Given the description of an element on the screen output the (x, y) to click on. 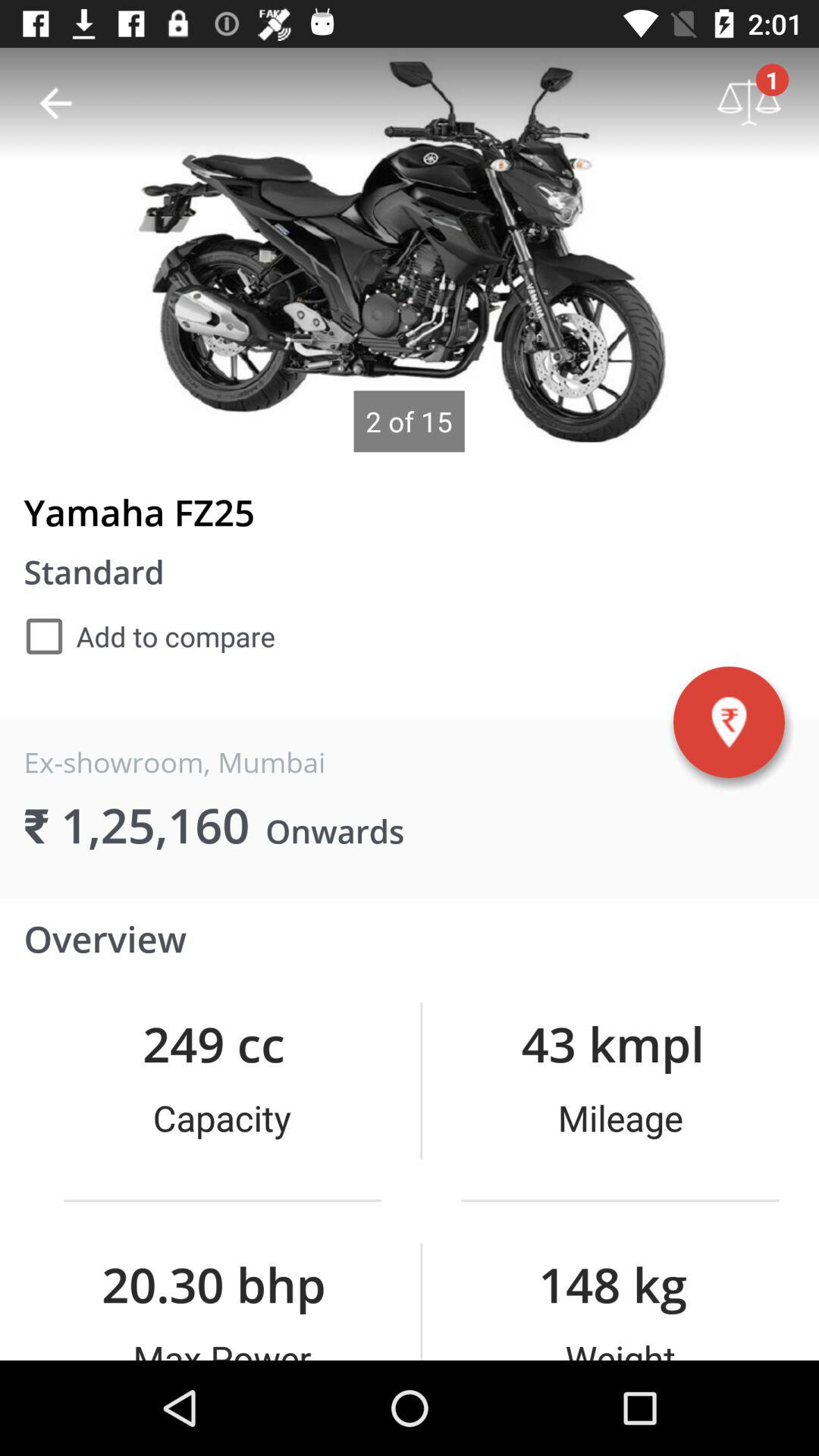
tap the icon to the right of the ex-showroom, mumbai item (729, 722)
